Given the description of an element on the screen output the (x, y) to click on. 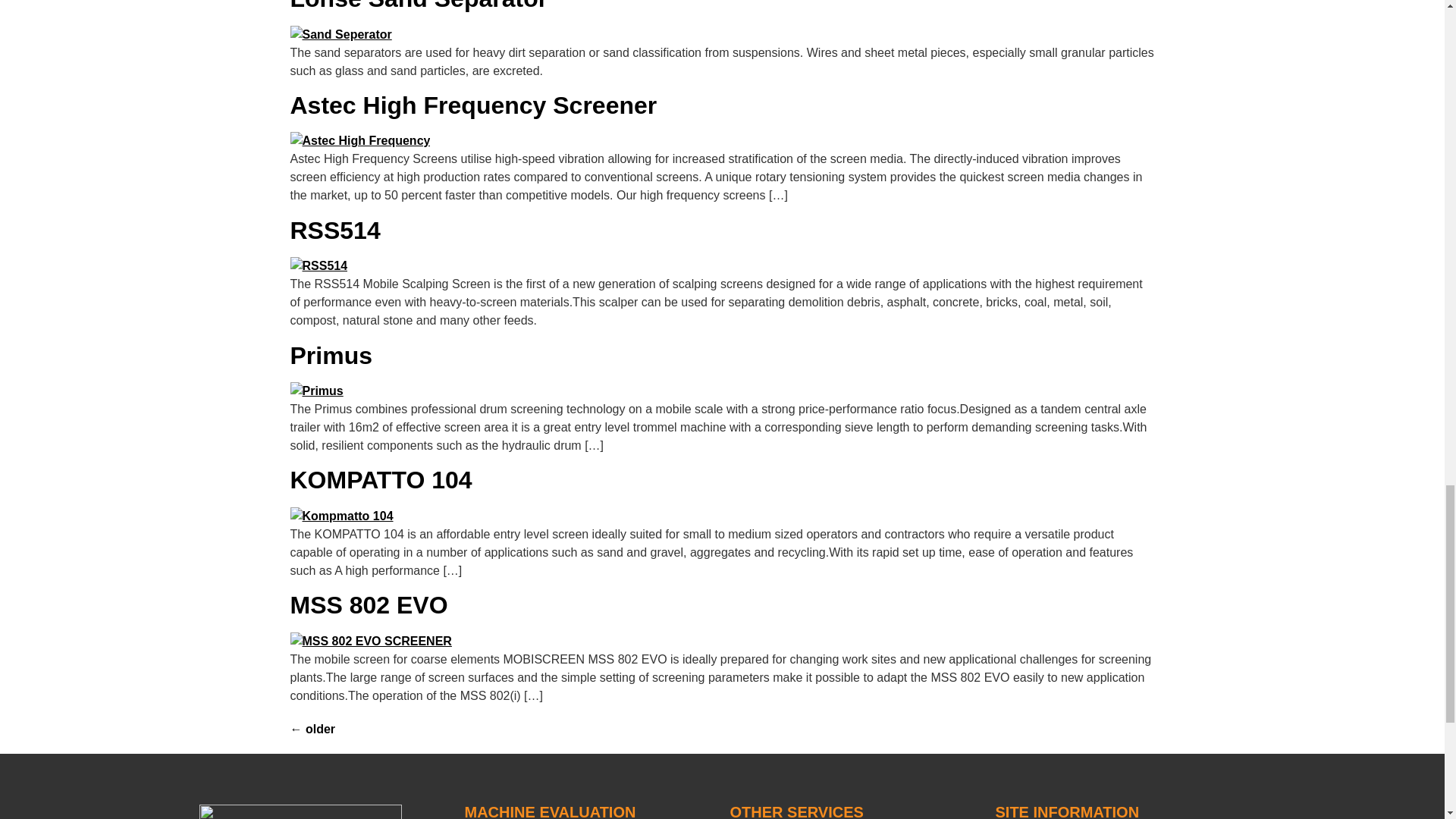
Lohse Sand Separator (418, 6)
KOMPATTO 104 (380, 479)
MSS 802 EVO (367, 605)
Primus (330, 355)
Astec High Frequency Screener (472, 104)
RSS514 (334, 230)
